Given the description of an element on the screen output the (x, y) to click on. 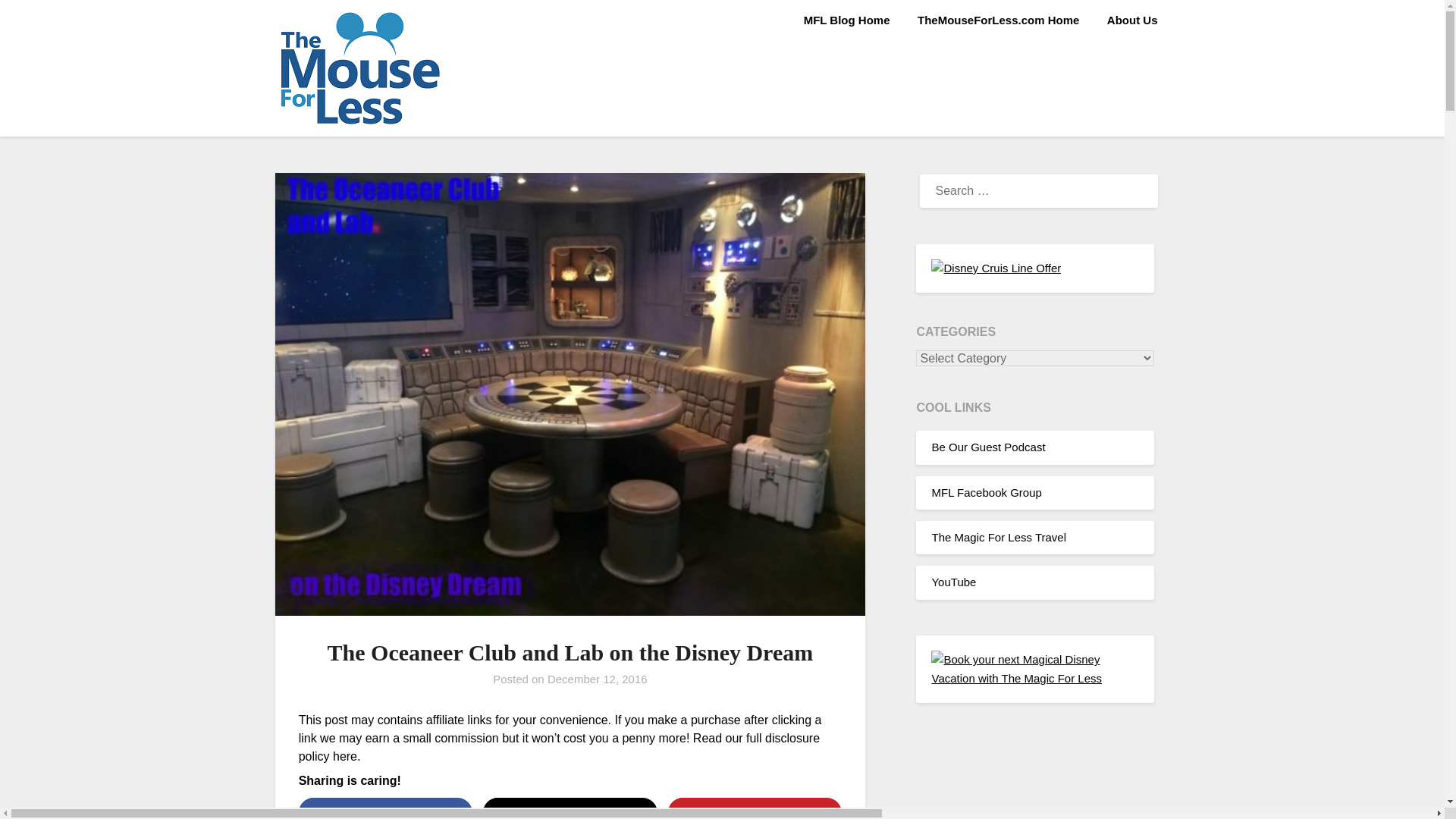
TheMouseForLess.com Home (997, 20)
Tweet (569, 808)
Save to Pinterest (754, 808)
TheMouseForLess You Tube Channel (953, 581)
Pin (754, 808)
About Us (1132, 20)
Search (38, 22)
MFL Facebook Group (986, 492)
The Mouse For Less Facebook Group (986, 492)
Share on X (569, 808)
Be Our Guest Podcast (988, 446)
The Magic For Less Travel (998, 536)
YouTube (953, 581)
Share on Facebook (384, 808)
